Given the description of an element on the screen output the (x, y) to click on. 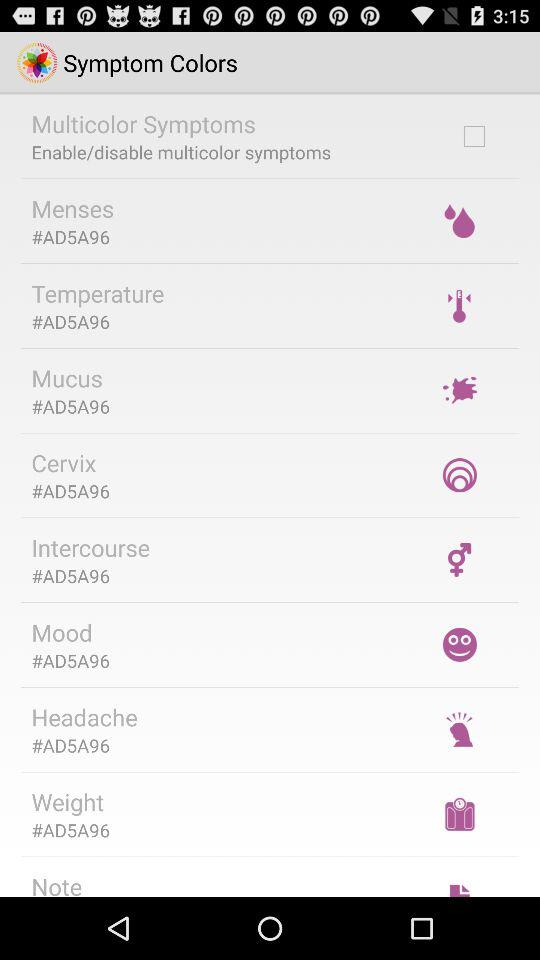
flip to cervix icon (63, 462)
